Given the description of an element on the screen output the (x, y) to click on. 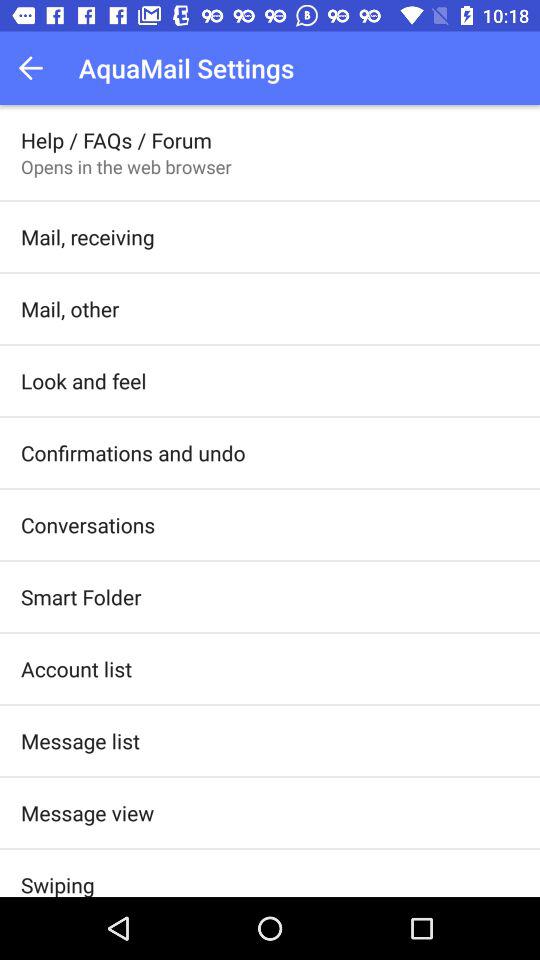
turn on the item below message view item (57, 883)
